Given the description of an element on the screen output the (x, y) to click on. 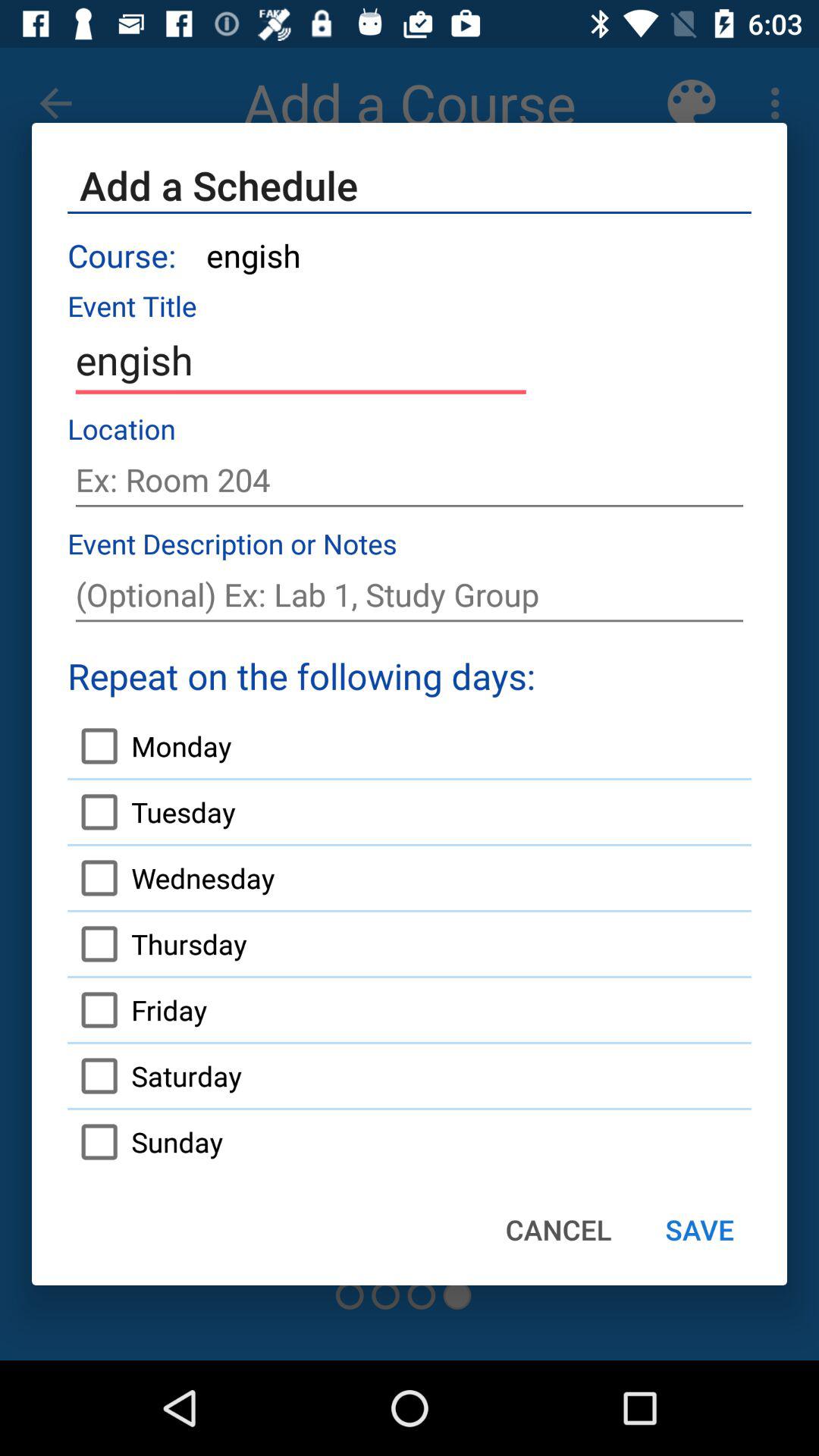
launch saturday icon (154, 1075)
